Given the description of an element on the screen output the (x, y) to click on. 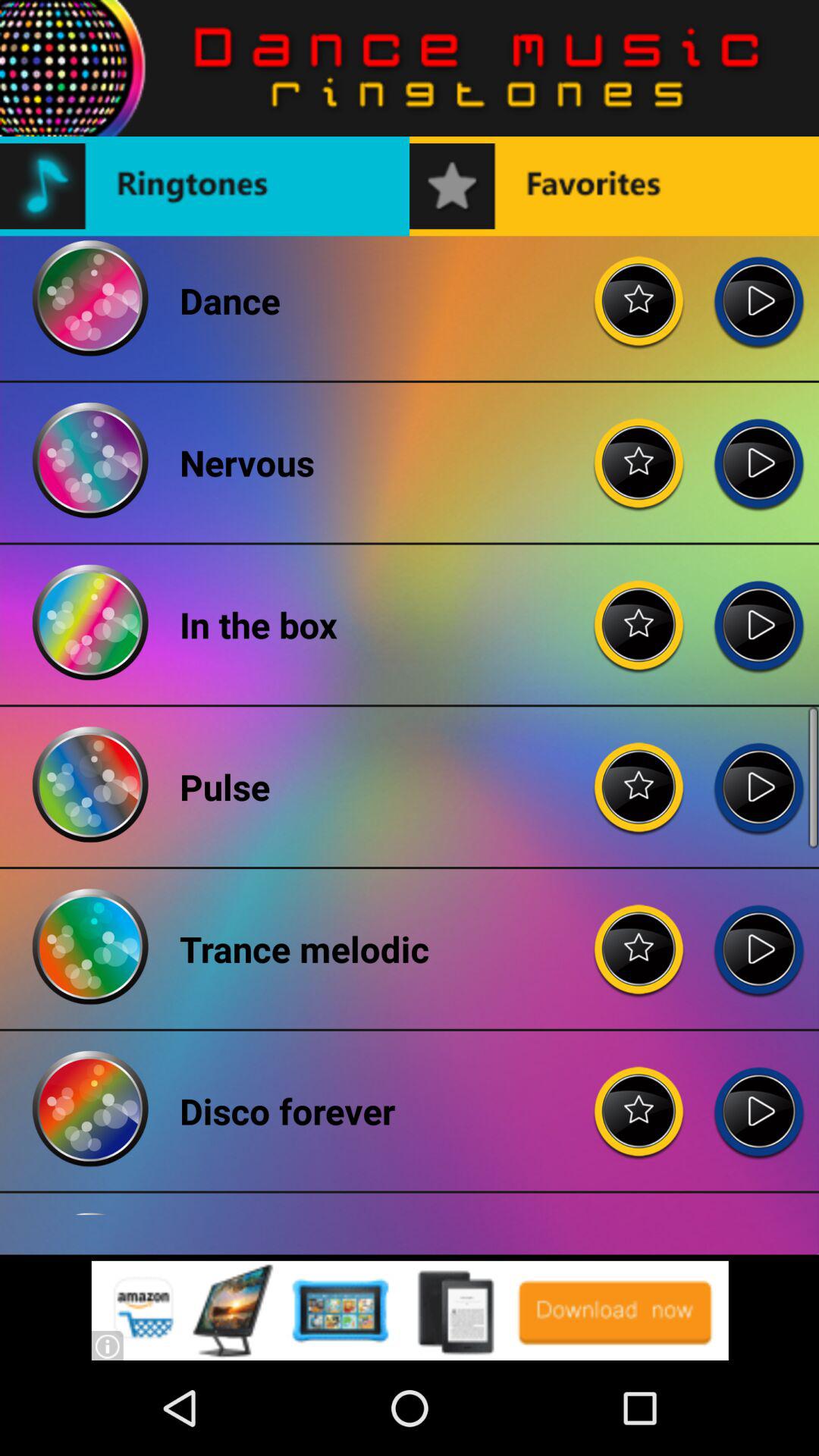
click to play option (758, 451)
